Given the description of an element on the screen output the (x, y) to click on. 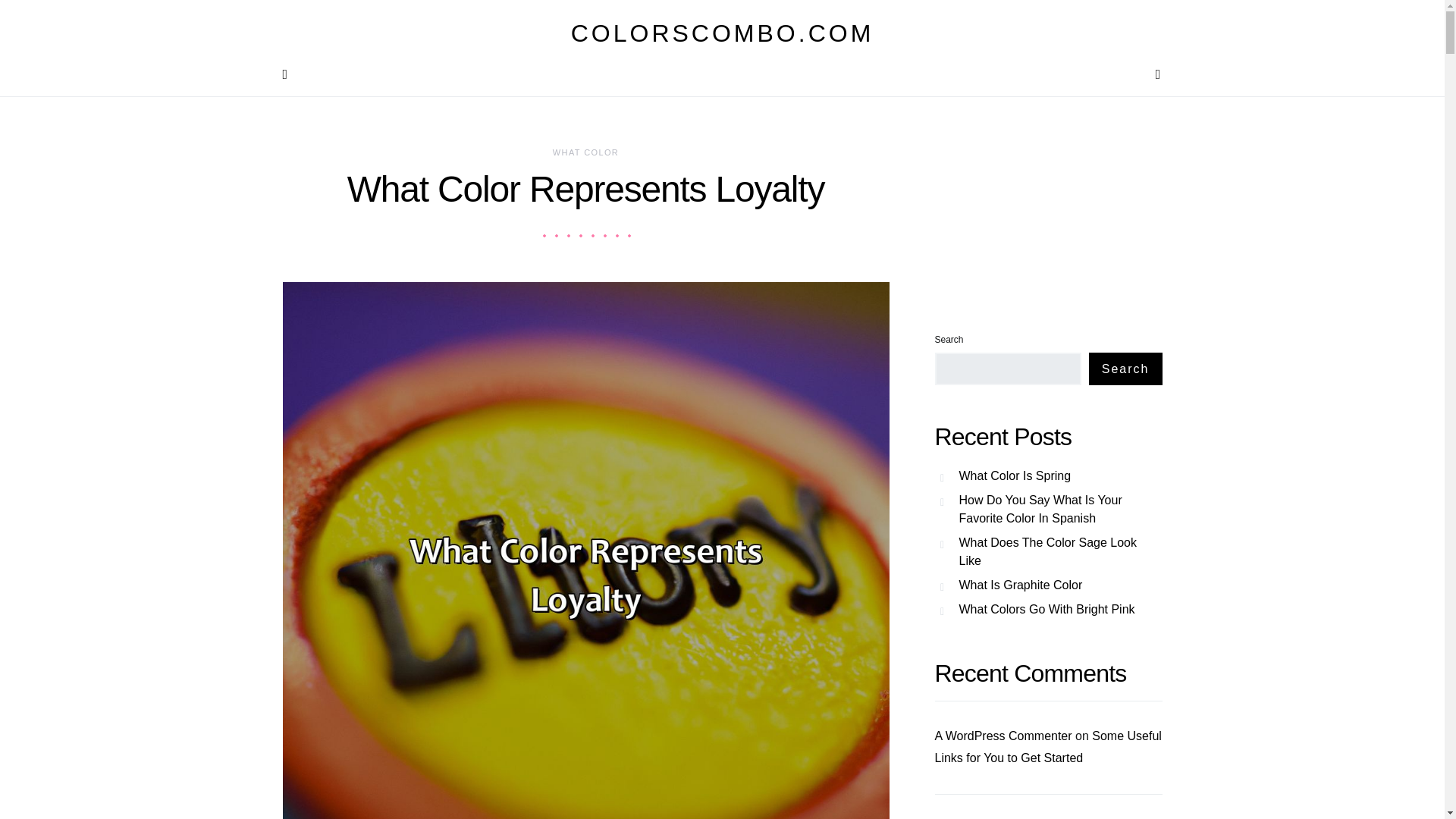
COLORSCOMBO.COM (722, 33)
WHAT COLOR (585, 152)
